Given the description of an element on the screen output the (x, y) to click on. 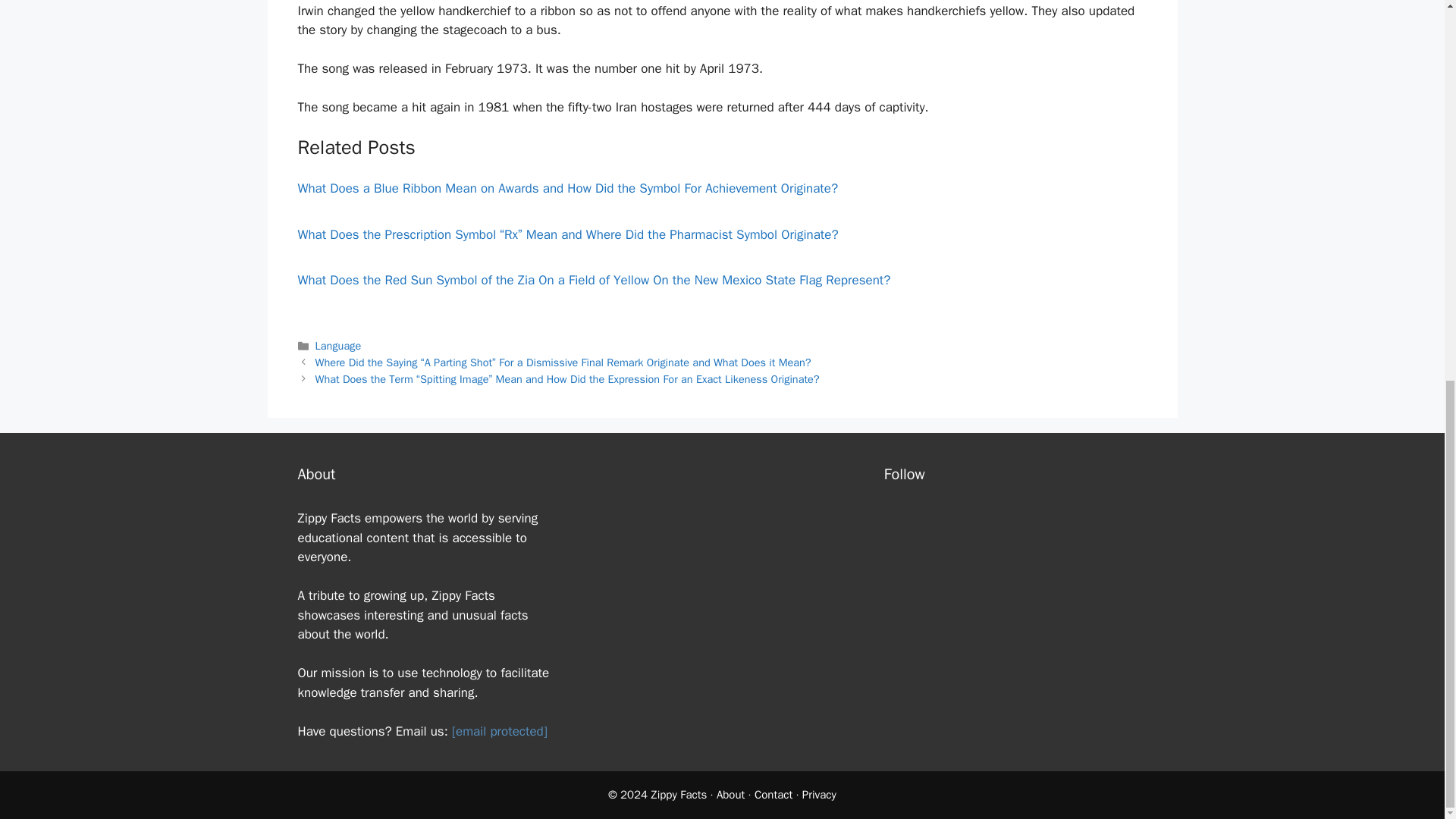
Language (338, 345)
